Given the description of an element on the screen output the (x, y) to click on. 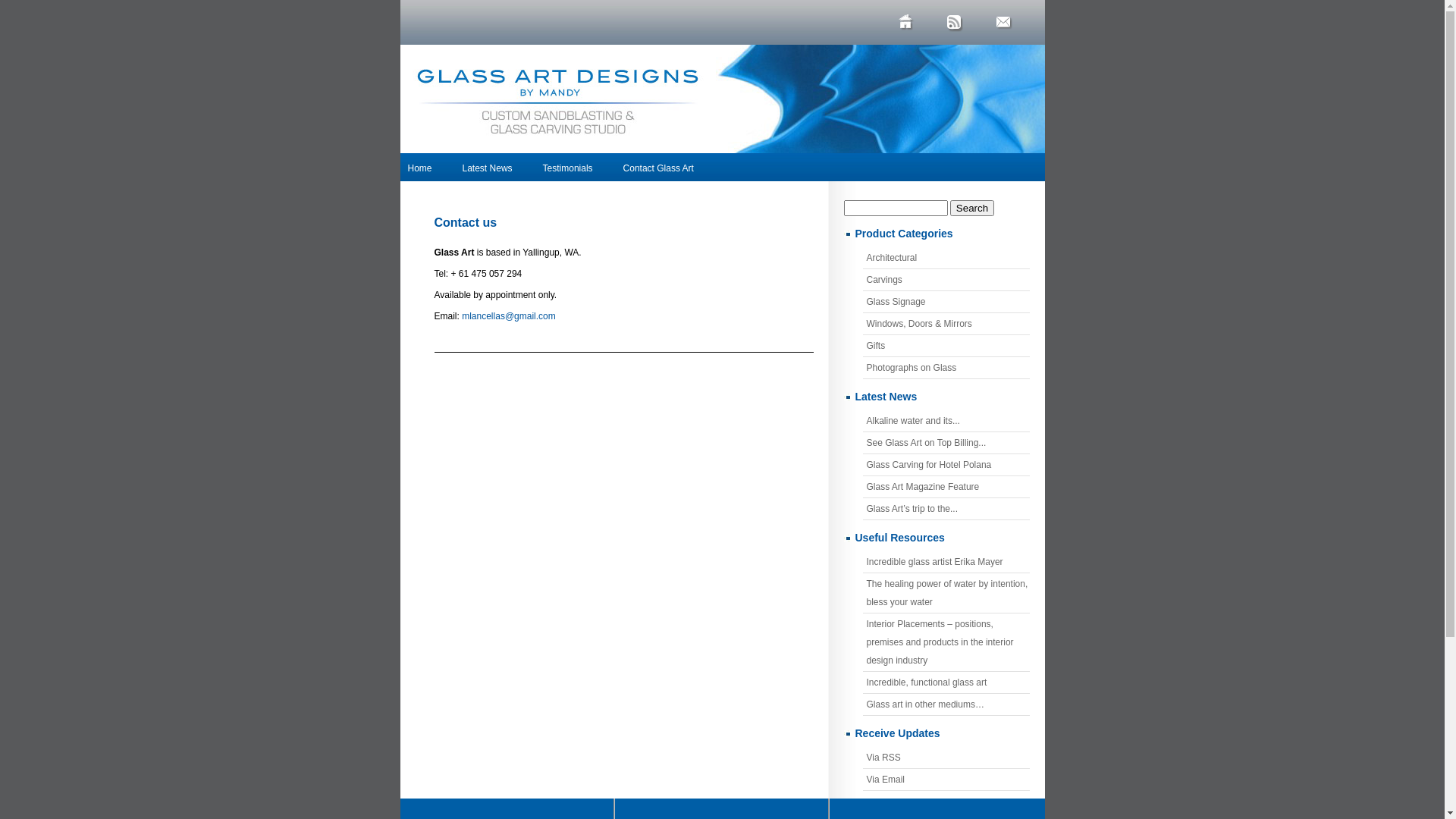
Testimonials Element type: text (567, 167)
Latest News Element type: text (487, 167)
See Glass Art on Top Billing... Element type: text (945, 442)
Architectural Element type: text (945, 257)
Glass Signage Element type: text (945, 301)
Incredible glass artist Erika Mayer Element type: text (945, 561)
Contact us Element type: text (464, 226)
Home Element type: hover (912, 24)
Incredible, functional glass art Element type: text (945, 682)
Alkaline water and its... Element type: text (945, 420)
The healing power of water by intention, bless your water Element type: text (945, 592)
Home Element type: text (419, 167)
Glass Art Magazine Feature Element type: text (945, 486)
Subscribe to feed Element type: hover (960, 24)
Glass Carving for Hotel Polana Element type: text (945, 464)
Via Email Element type: text (945, 779)
Search Element type: text (972, 208)
Gifts Element type: text (945, 345)
mlancellas@gmail.com Element type: text (508, 315)
Photographs on Glass Element type: text (945, 367)
Contact Glass Art Element type: text (658, 167)
Via RSS Element type: text (945, 757)
Windows, Doors & Mirrors Element type: text (945, 323)
Carvings Element type: text (945, 279)
